Given the description of an element on the screen output the (x, y) to click on. 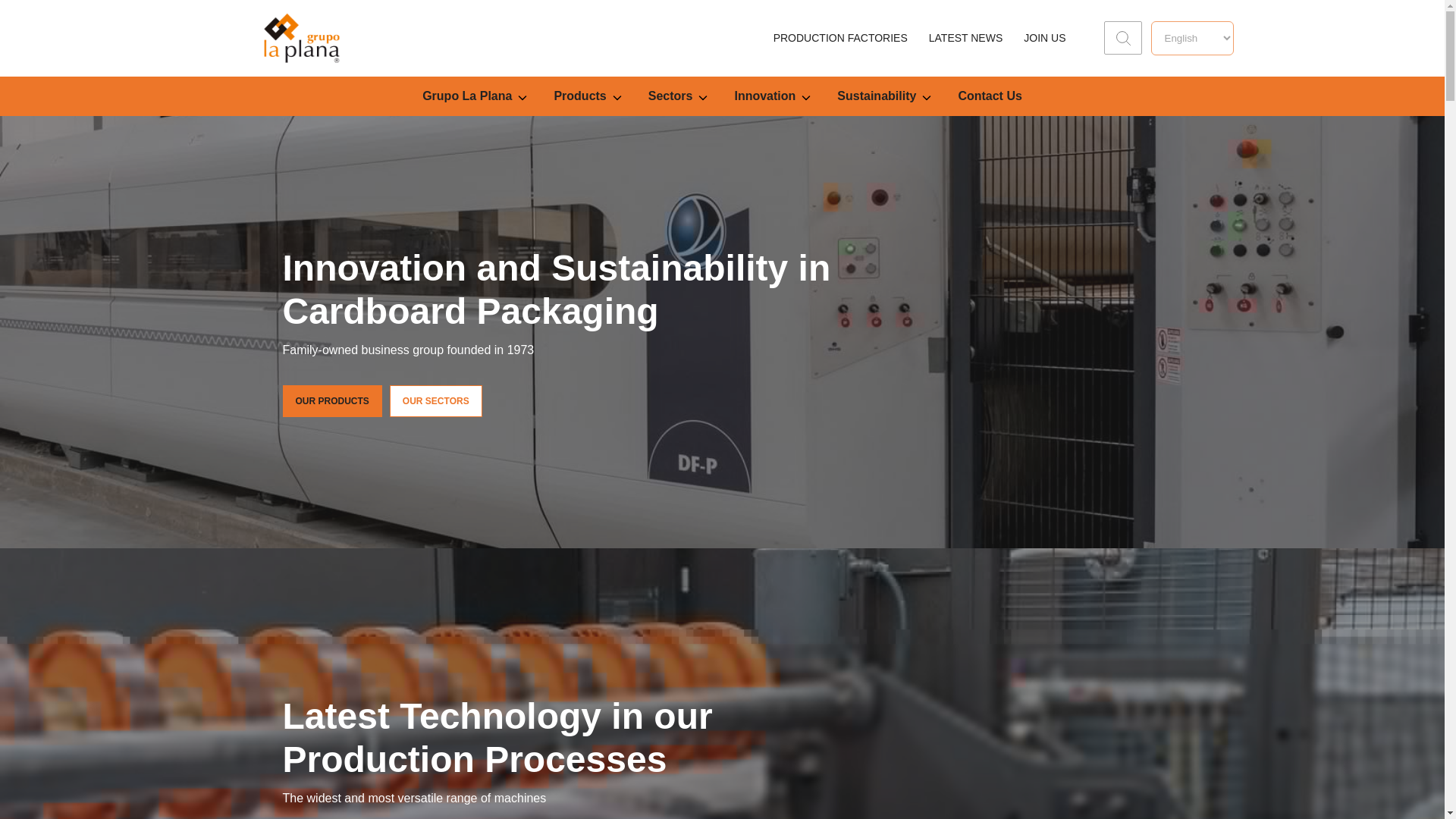
Innovation (771, 96)
Sustainability (884, 96)
Grupo La Plana (474, 96)
Products (587, 96)
JOIN US (1044, 37)
LATEST NEWS (965, 37)
Sectors (677, 96)
Contact Us (990, 96)
PRODUCTION FACTORIES (840, 37)
